Given the description of an element on the screen output the (x, y) to click on. 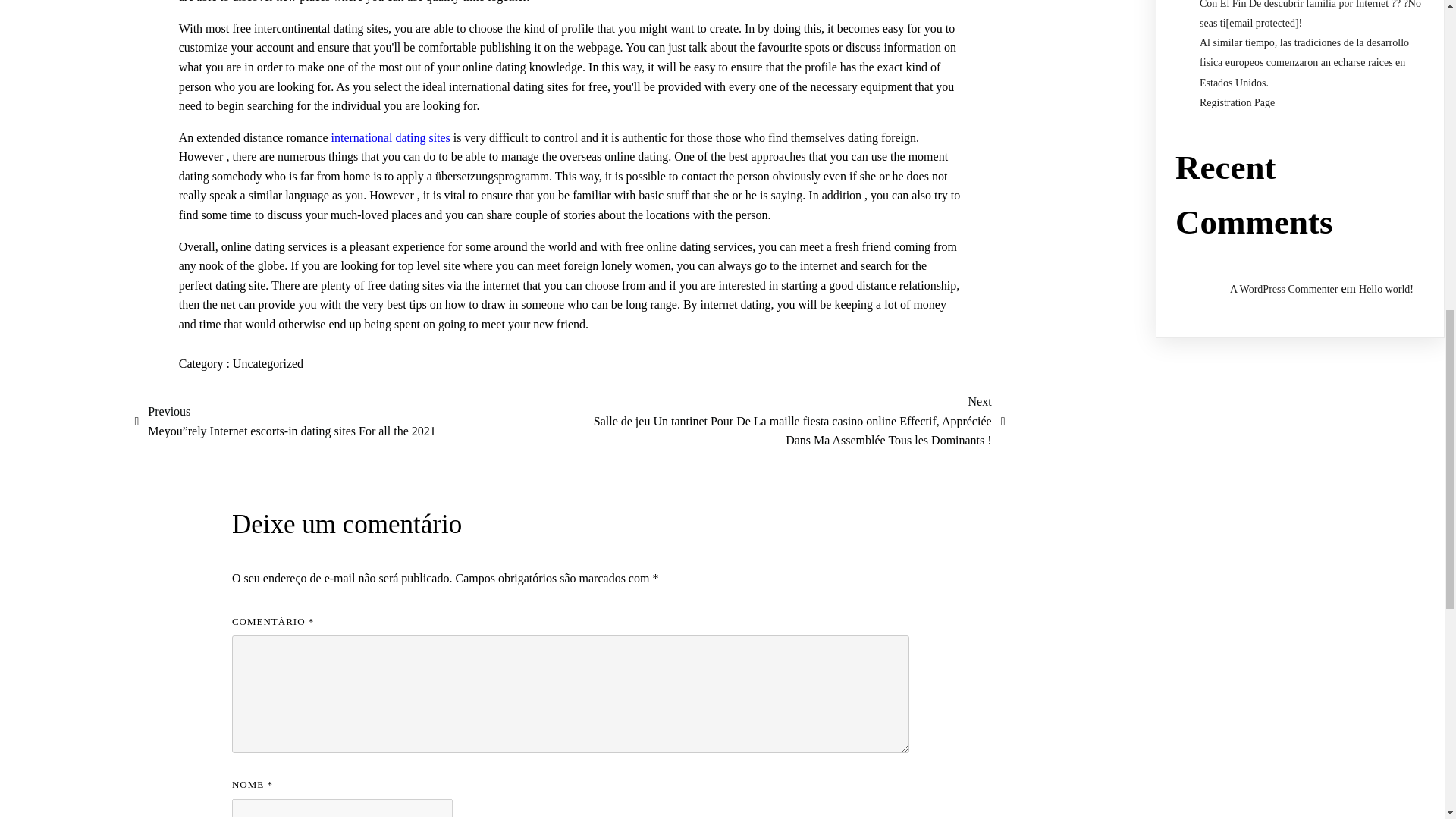
A WordPress Commenter (1284, 288)
Hello world! (1385, 288)
international dating sites (390, 137)
Registration Page (1237, 102)
Uncategorized (267, 363)
